Given the description of an element on the screen output the (x, y) to click on. 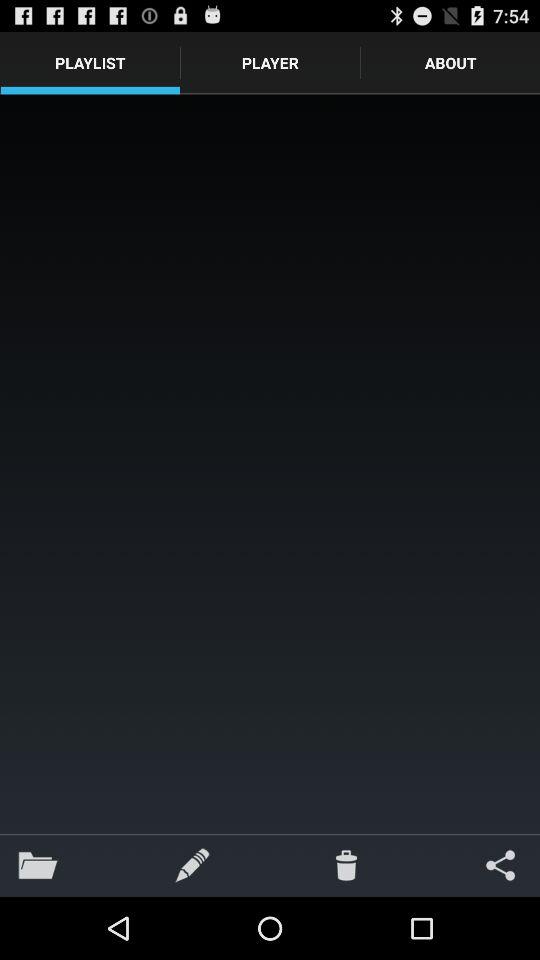
select the icon below playlist (270, 463)
